Given the description of an element on the screen output the (x, y) to click on. 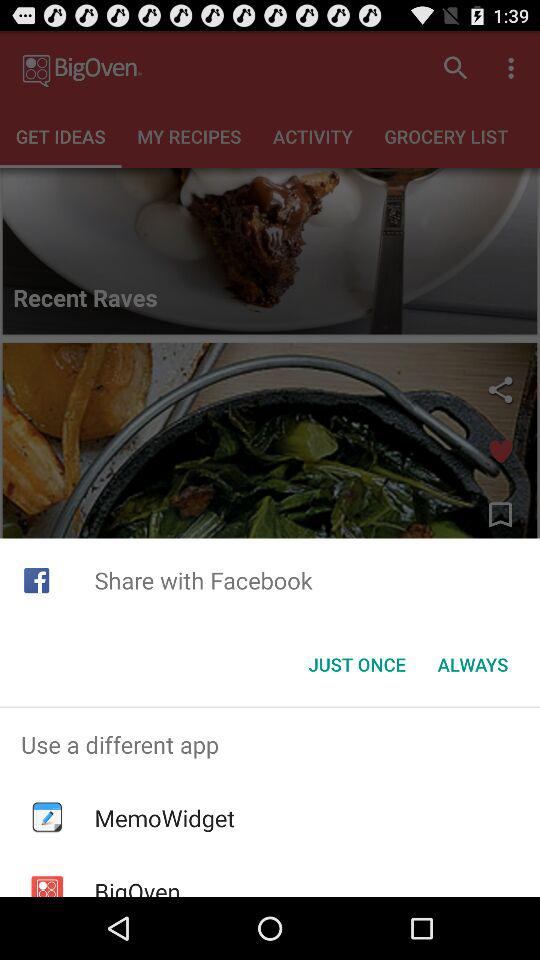
launch app below share with facebook icon (472, 664)
